Given the description of an element on the screen output the (x, y) to click on. 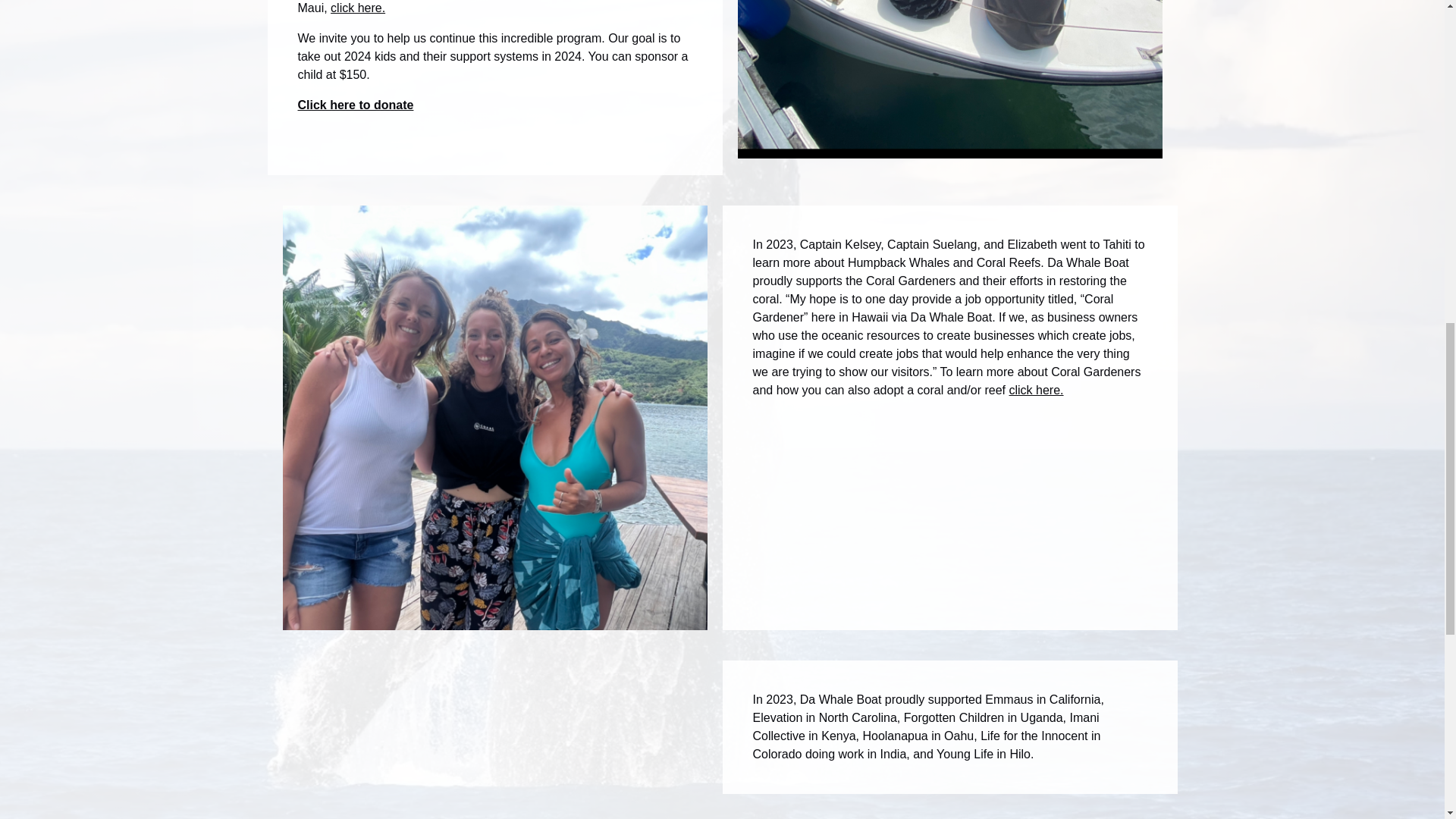
click here. (1035, 390)
Click here to donate (355, 104)
FareHarbor (1342, 64)
click here. (357, 7)
